Given the description of an element on the screen output the (x, y) to click on. 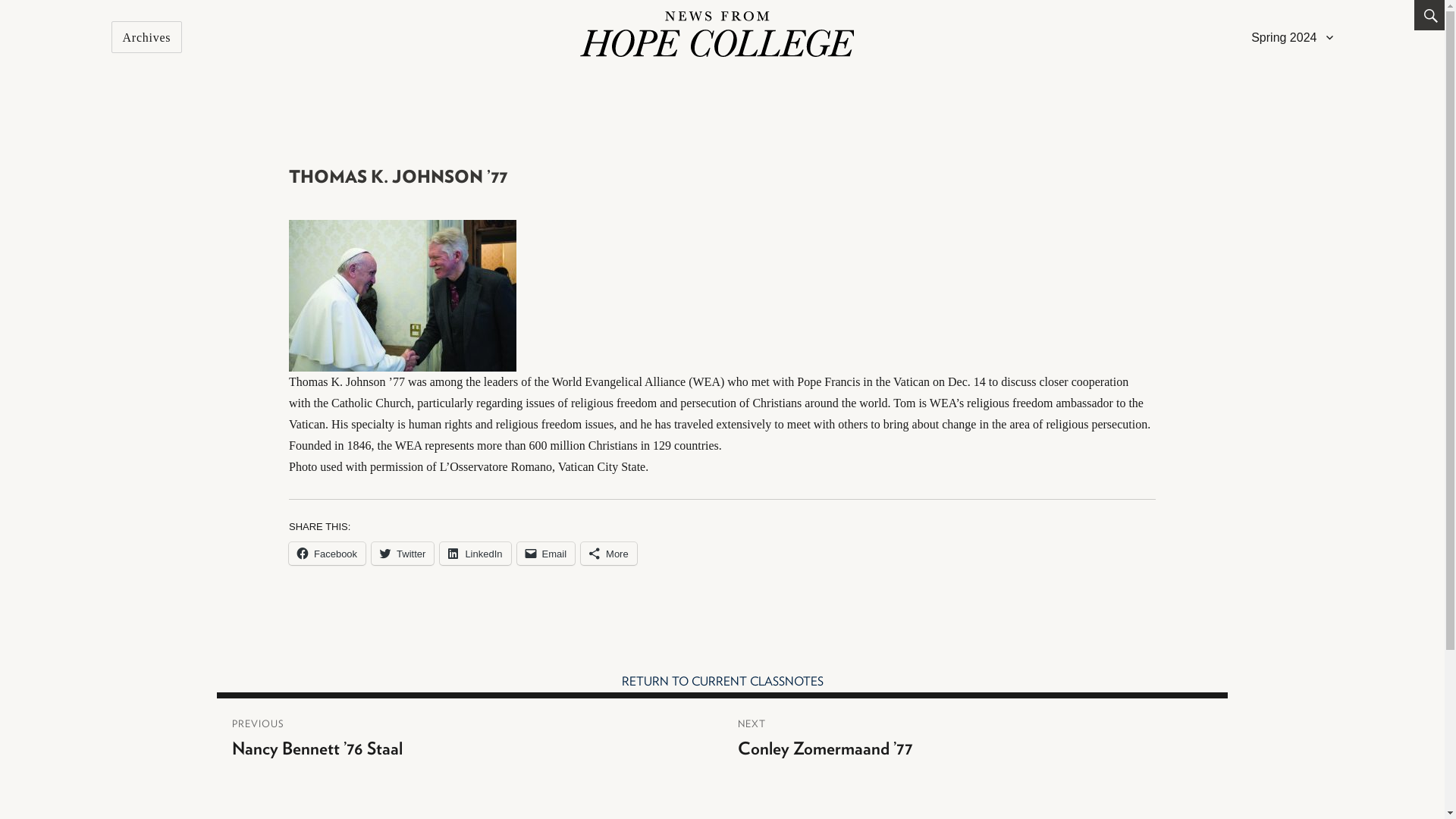
Click to share on Facebook (326, 553)
More (608, 553)
Facebook (326, 553)
Twitter (402, 553)
Click to email a link to a friend (545, 553)
Email (545, 553)
Click to share on Twitter (402, 553)
Archives (147, 37)
LinkedIn (475, 553)
Click to share on LinkedIn (475, 553)
